Given the description of an element on the screen output the (x, y) to click on. 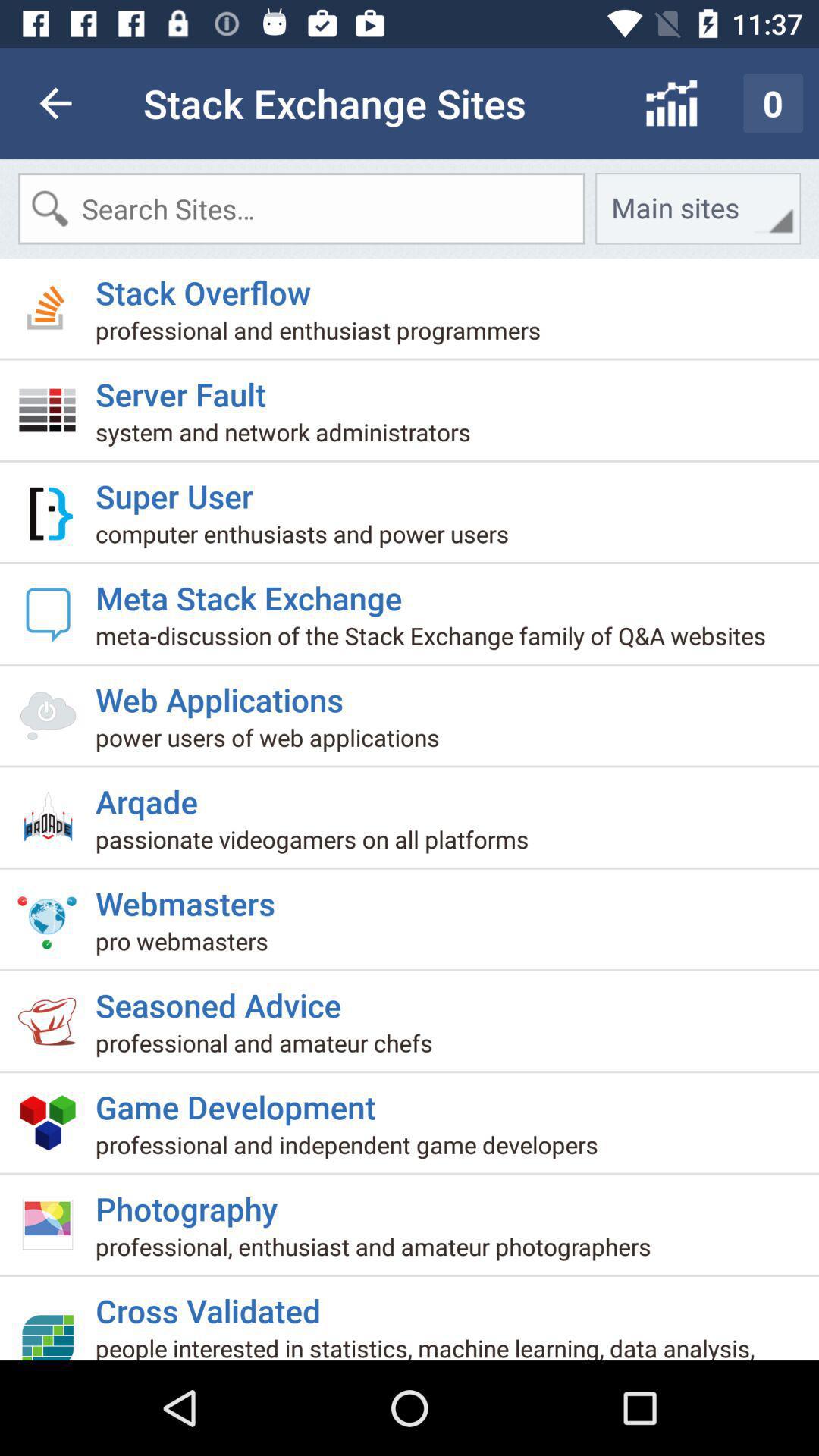
select photography (192, 1202)
